Given the description of an element on the screen output the (x, y) to click on. 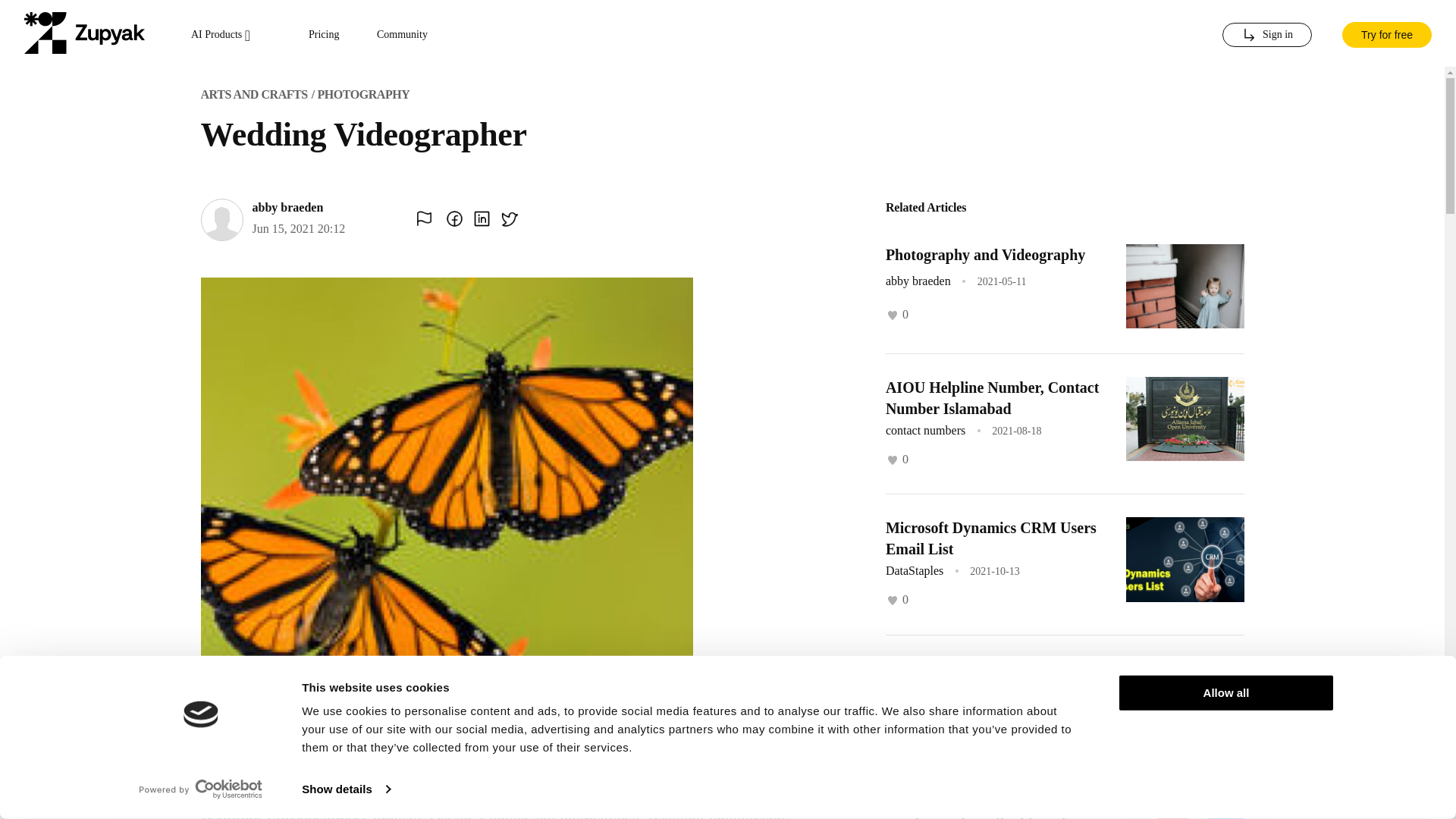
Photography and Videography (984, 254)
Microsoft Dynamics CRM Users Email List (990, 538)
Real numbers (930, 668)
AIOU Helpline Number, Contact Number Islamabad (992, 397)
Show details (345, 789)
